Given the description of an element on the screen output the (x, y) to click on. 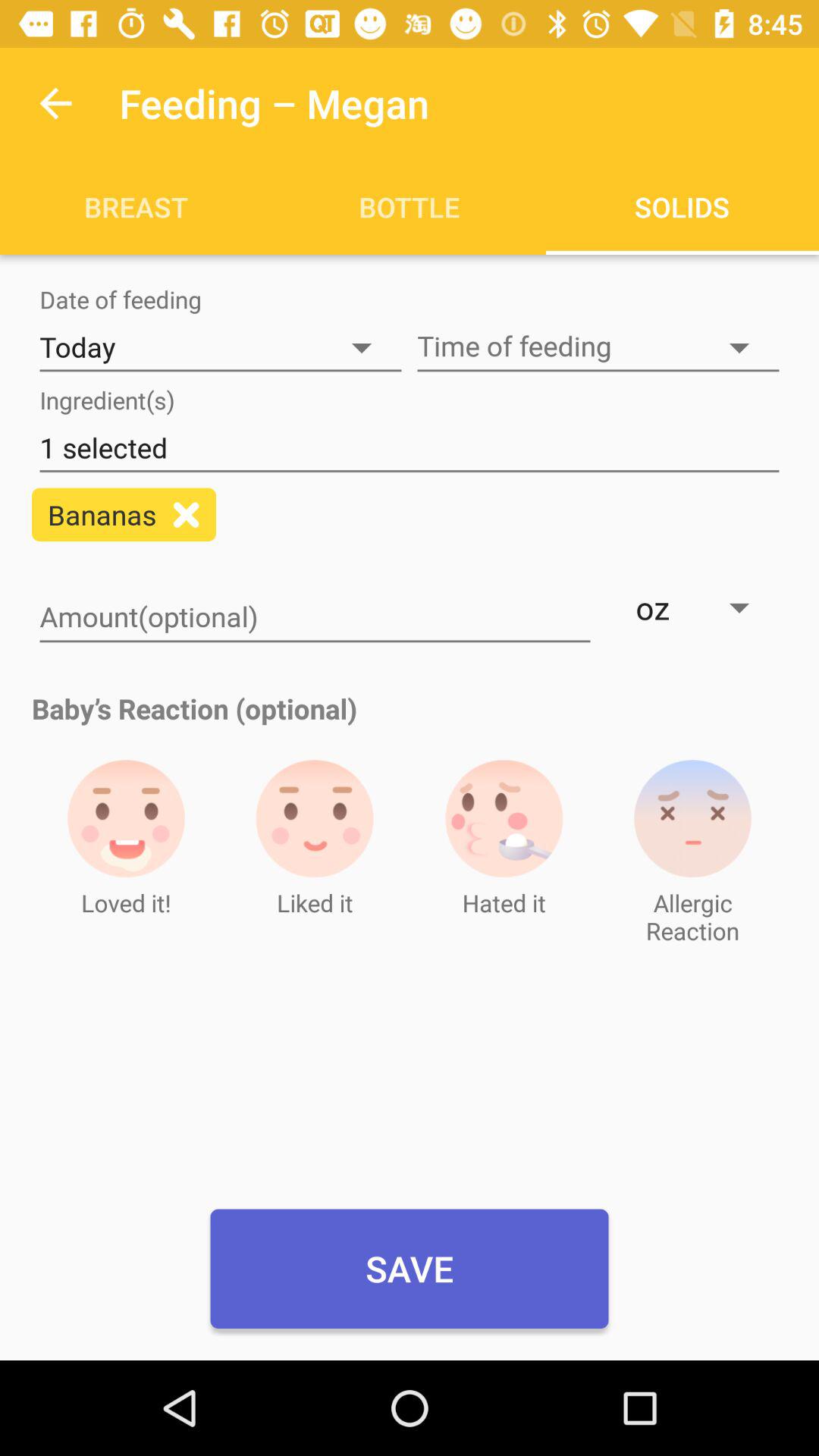
select icon to the right of the bananas item (186, 514)
